Given the description of an element on the screen output the (x, y) to click on. 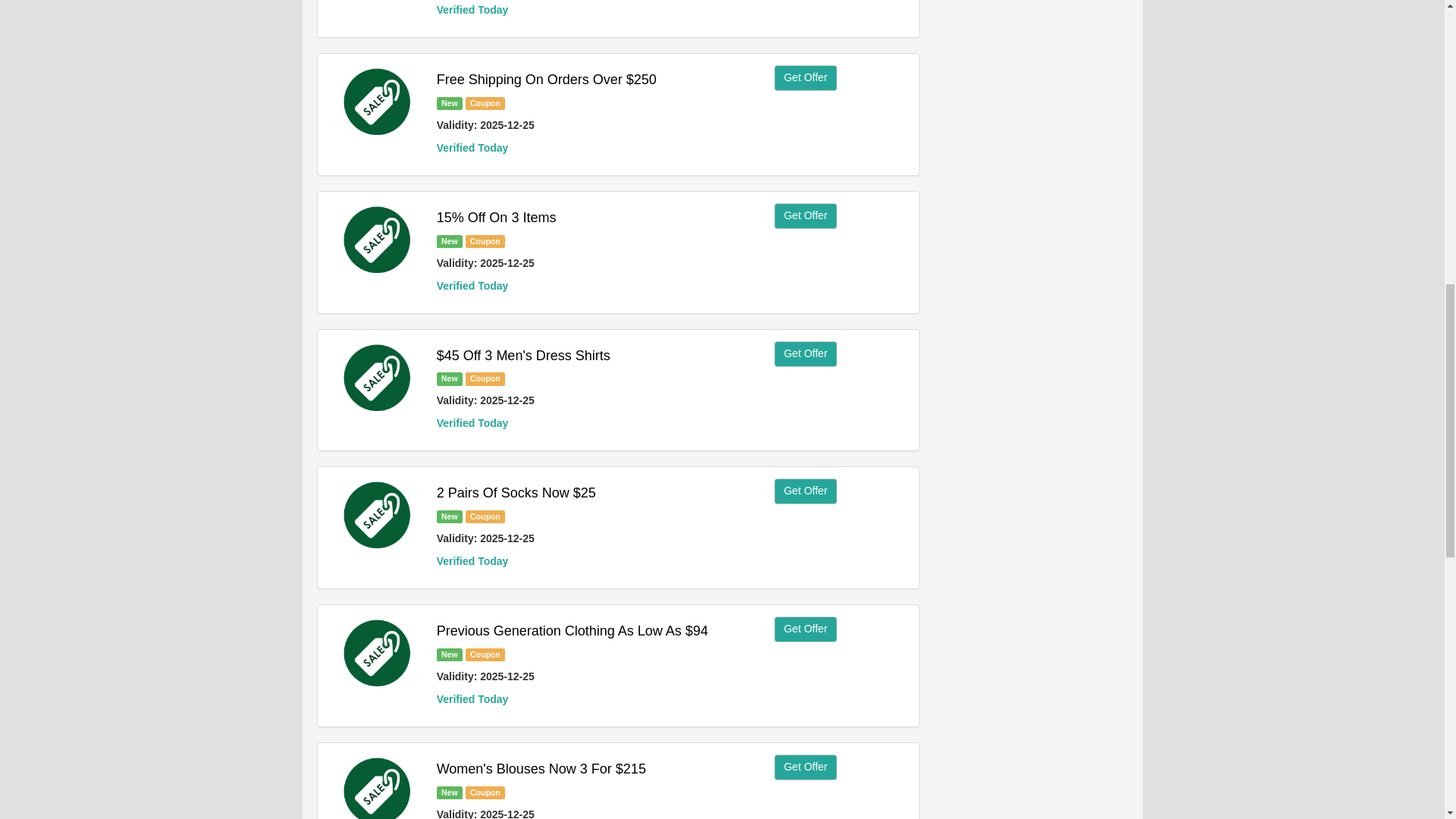
Get Offer (805, 77)
Get Offer (805, 491)
Get Offer (805, 629)
Get Offer (805, 216)
Get Offer (805, 353)
